Given the description of an element on the screen output the (x, y) to click on. 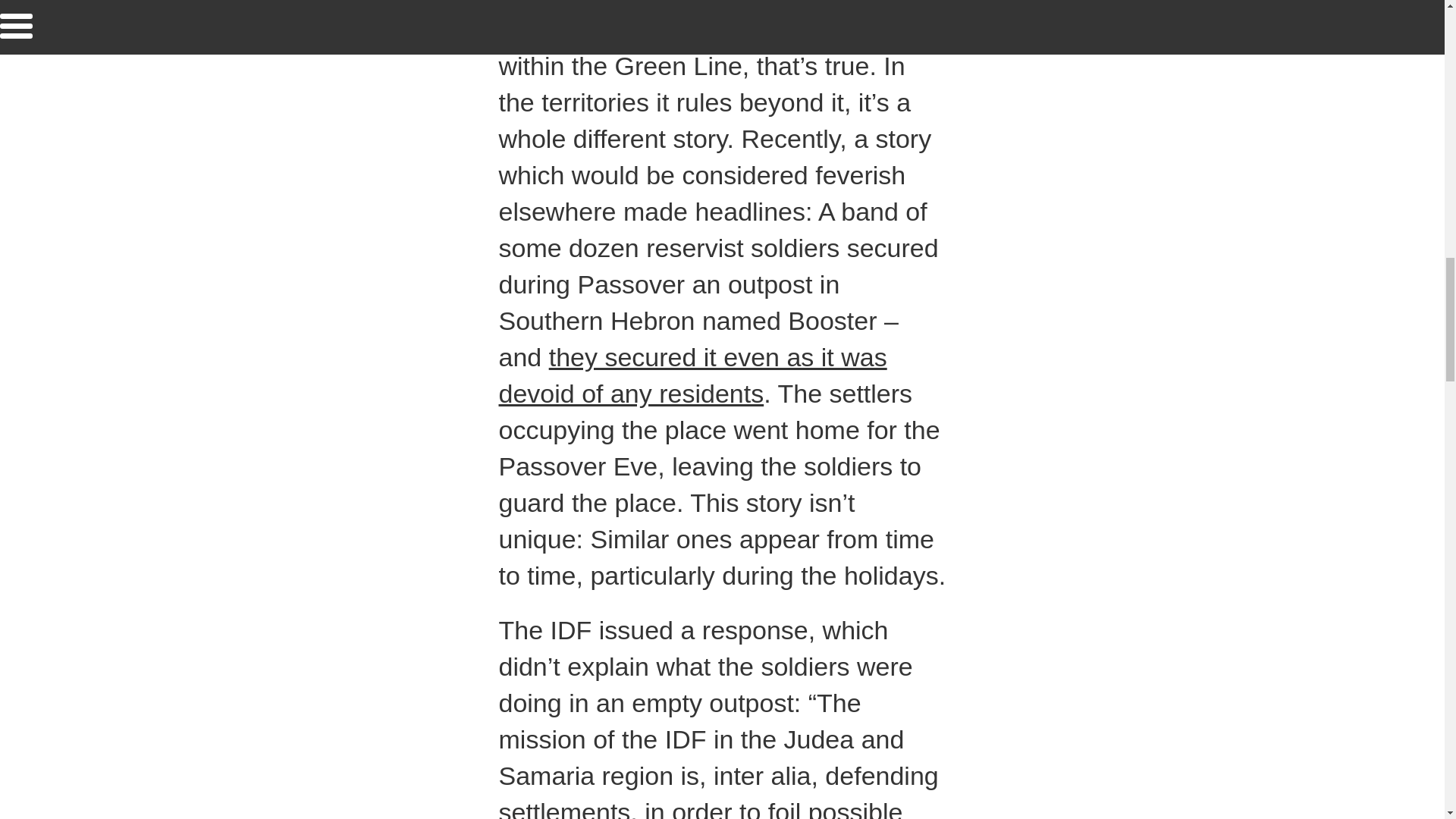
they secured it even as it was devoid of any residents (692, 375)
